Given the description of an element on the screen output the (x, y) to click on. 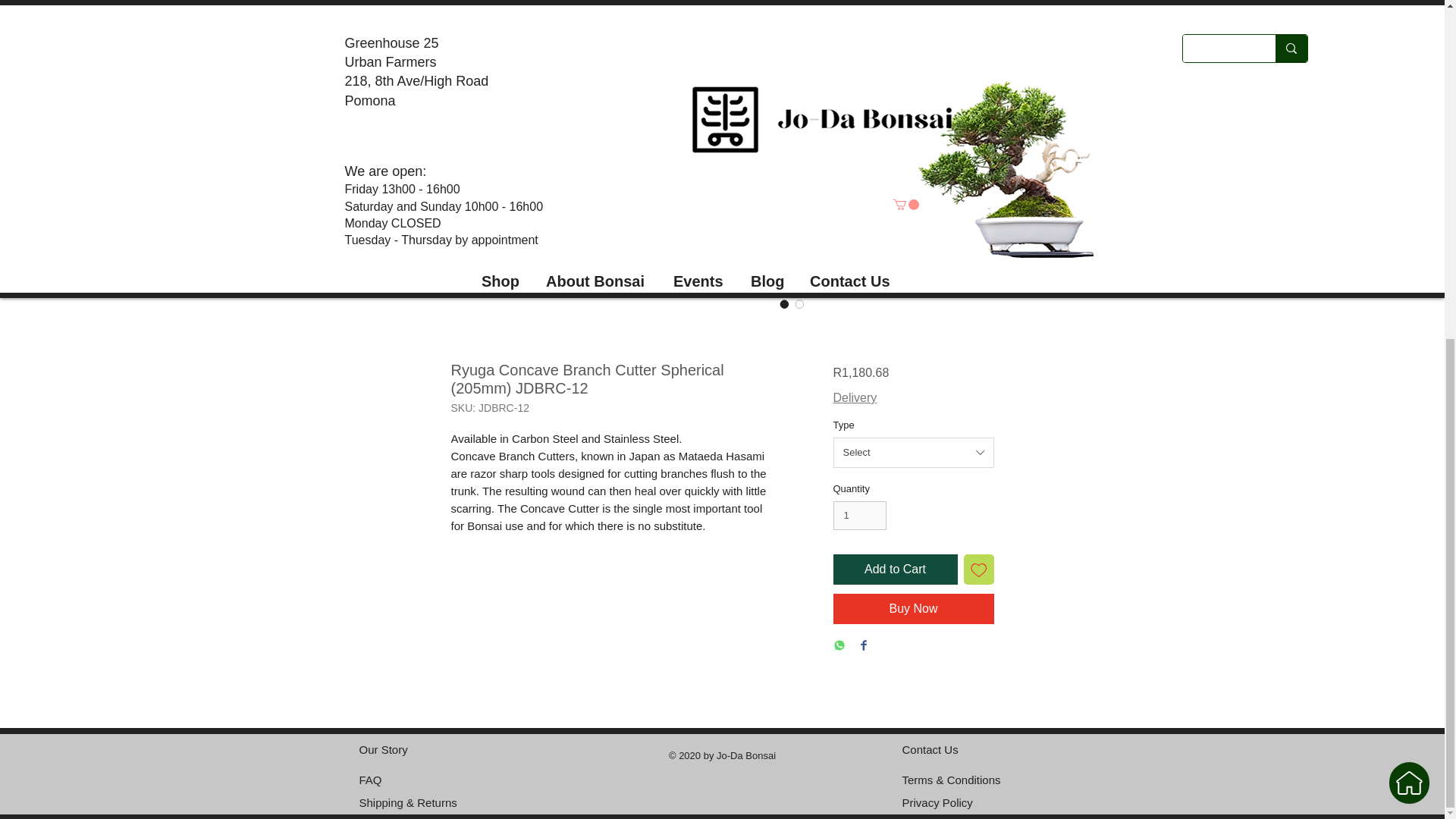
Add to Cart (894, 569)
1 (859, 515)
Our Story (383, 748)
Delivery (854, 397)
Buy Now (912, 608)
FAQ (370, 779)
Select (912, 452)
Contact Us (930, 748)
Privacy Policy (937, 802)
